Given the description of an element on the screen output the (x, y) to click on. 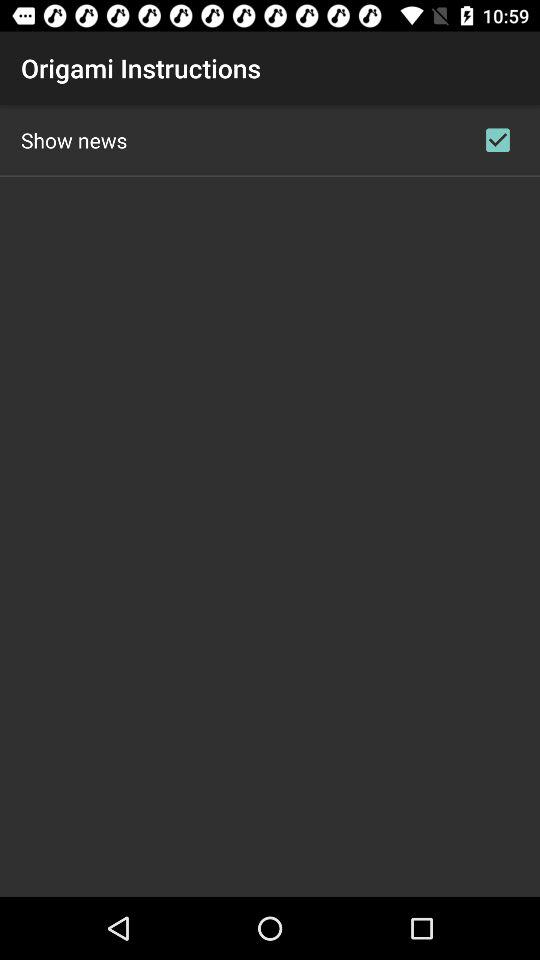
launch the icon at the top right corner (497, 140)
